Given the description of an element on the screen output the (x, y) to click on. 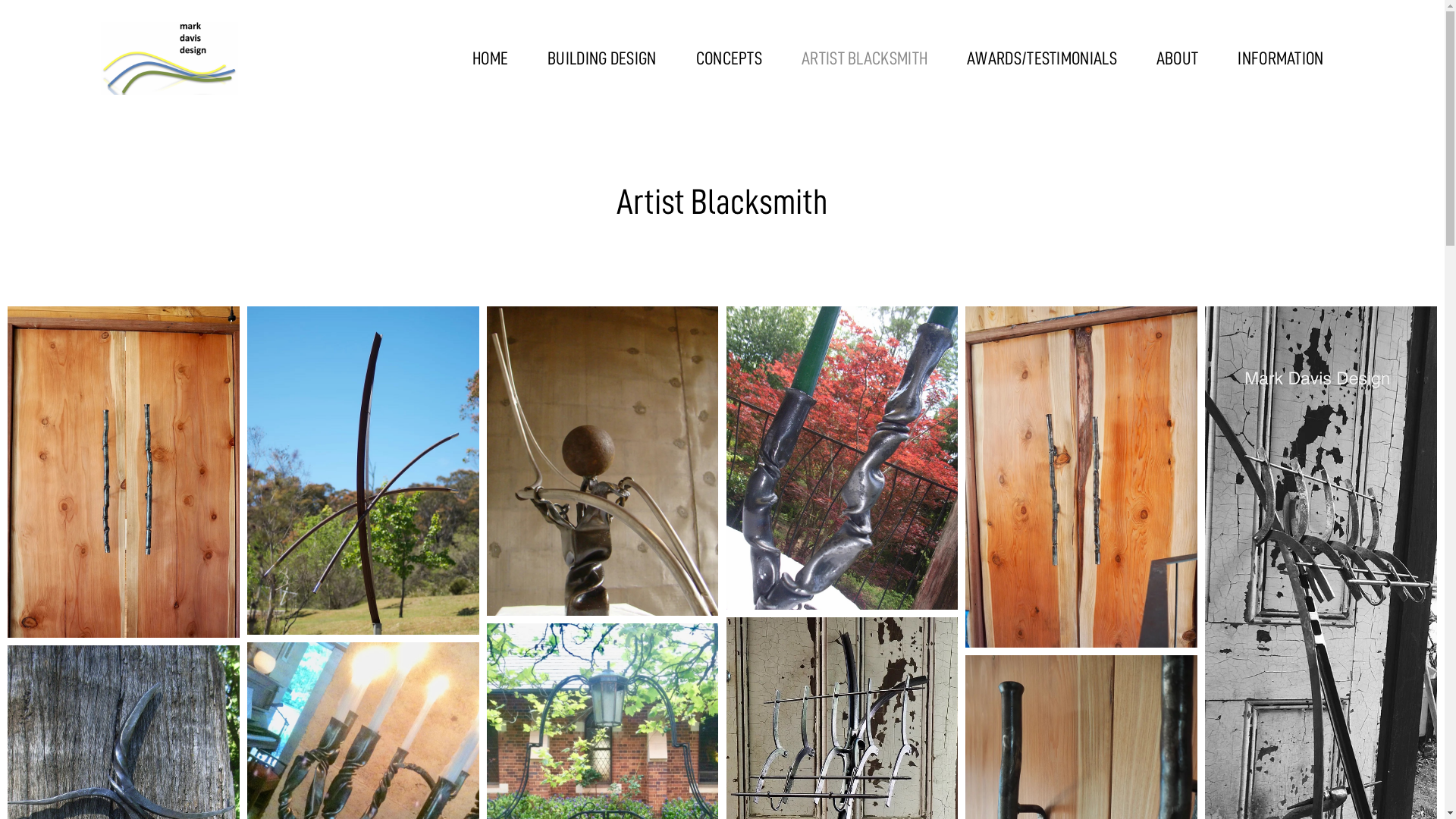
ABOUT Element type: text (1177, 58)
HOME Element type: text (489, 58)
AWARDS/TESTIMONIALS Element type: text (1041, 58)
BUILDING DESIGN Element type: text (601, 58)
INFORMATION Element type: text (1280, 58)
ARTIST BLACKSMITH Element type: text (864, 58)
CONCEPTS Element type: text (728, 58)
